Given the description of an element on the screen output the (x, y) to click on. 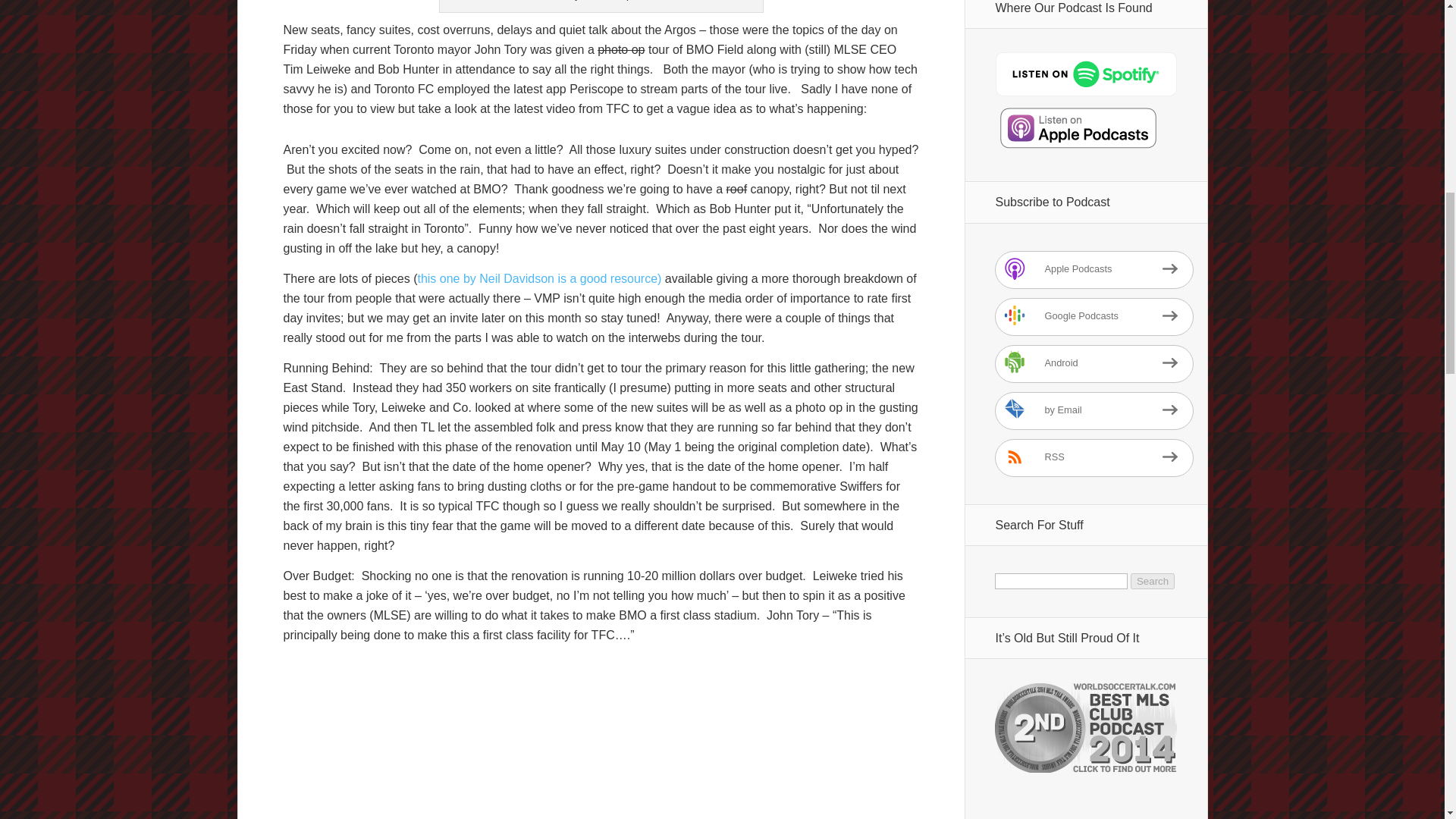
Subscribe on Apple Podcasts (1093, 269)
Subscribe on Android (1093, 363)
Subscribe on Google Podcasts (1093, 316)
Search (1152, 580)
Subscribe via RSS (1093, 457)
Subscribe by Email (1093, 410)
